Given the description of an element on the screen output the (x, y) to click on. 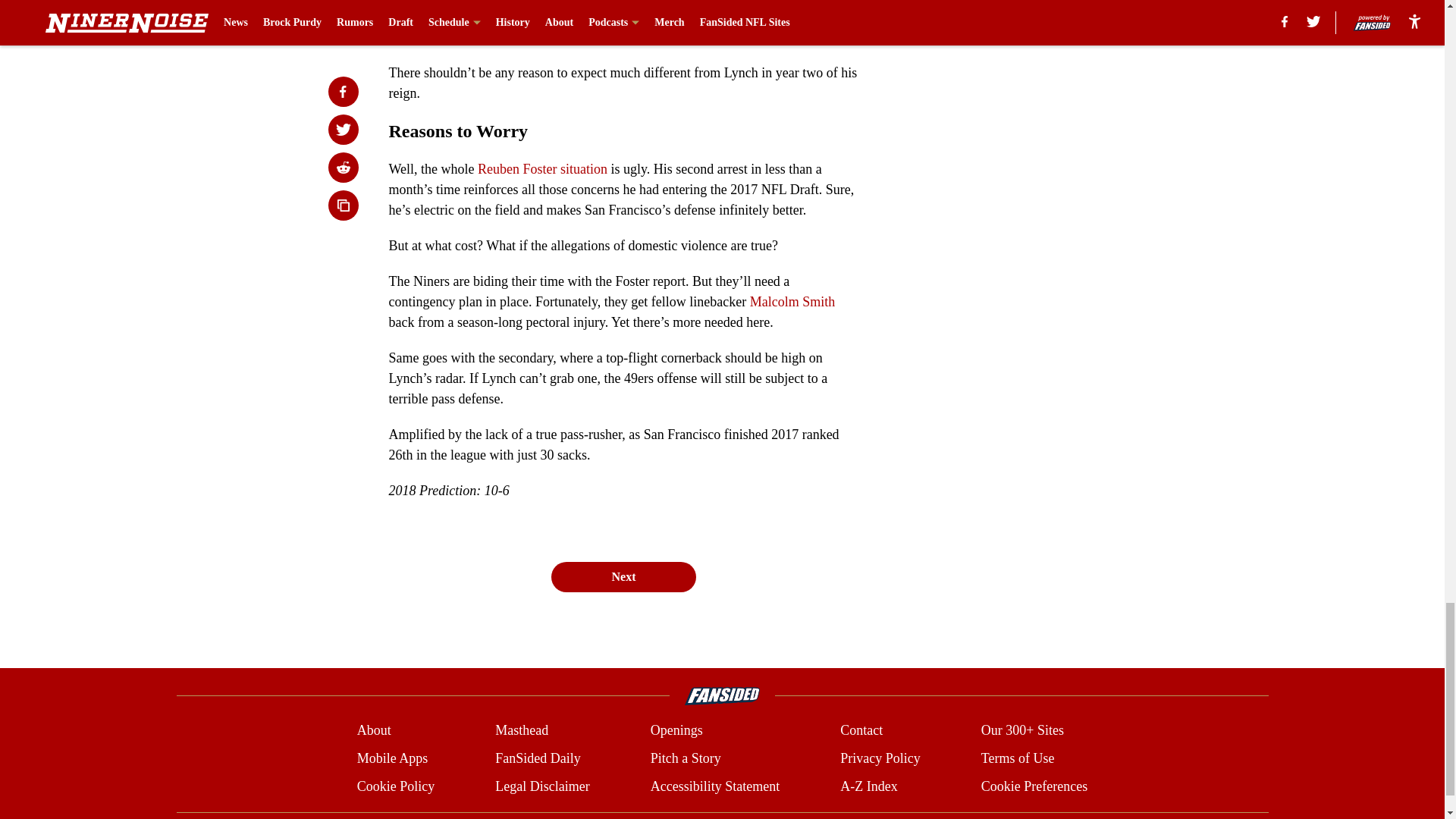
Malcolm Smith (792, 301)
Masthead (521, 730)
Reuben Foster (516, 168)
About (373, 730)
situation (583, 168)
Openings (676, 730)
Next (622, 576)
